Given the description of an element on the screen output the (x, y) to click on. 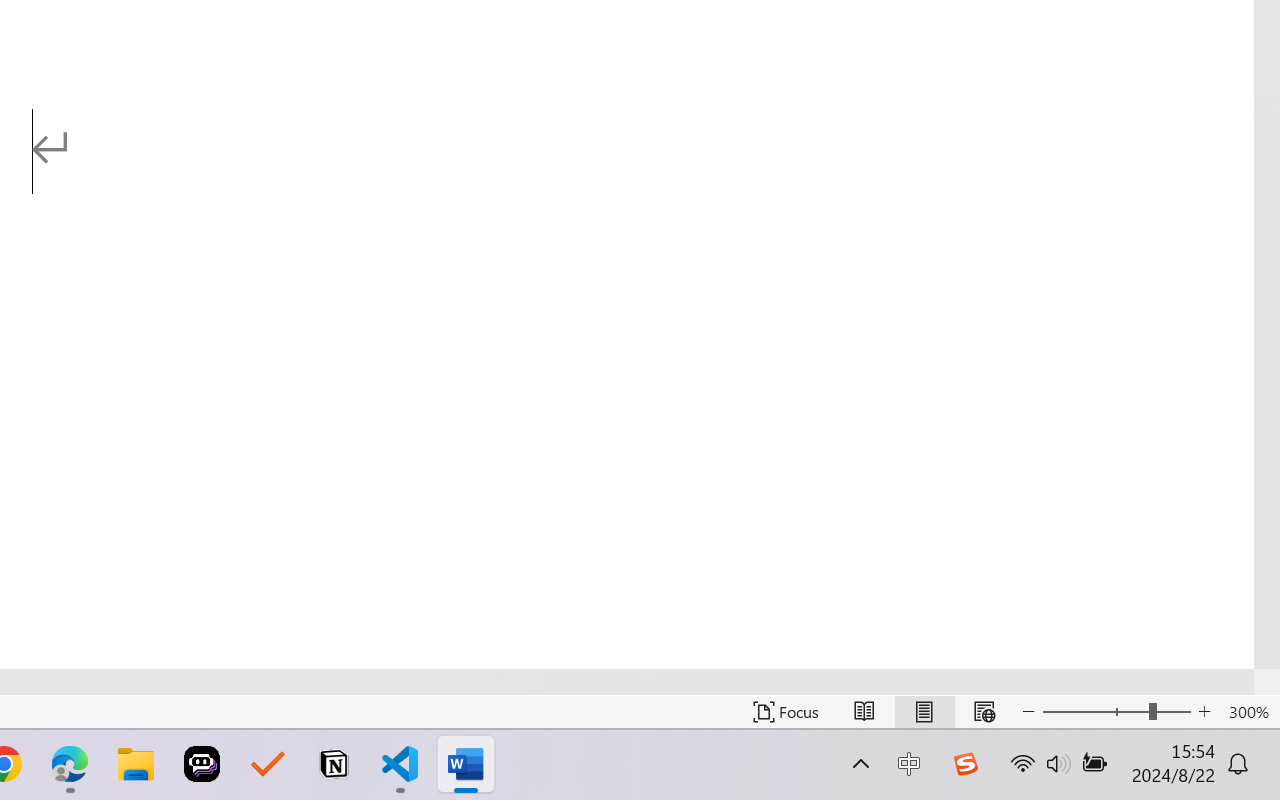
Focus  (786, 712)
Zoom (1116, 712)
Class: Image (965, 764)
Web Layout (984, 712)
Read Mode (864, 712)
Zoom 300% (1249, 712)
Zoom Out (1095, 712)
Print Layout (924, 712)
Zoom In (1204, 712)
